Given the description of an element on the screen output the (x, y) to click on. 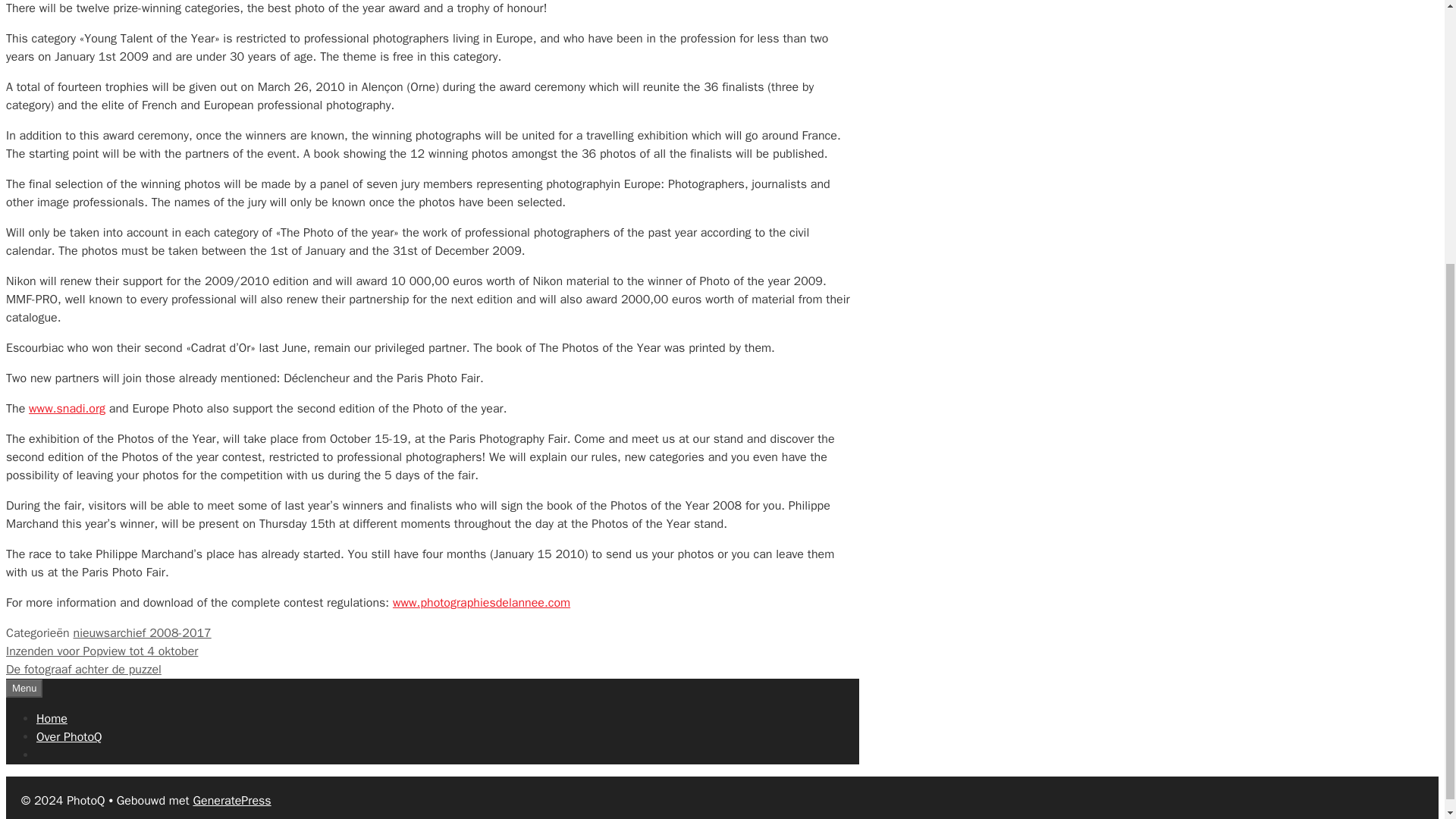
De fotograaf achter de puzzel (83, 669)
Inzenden voor Popview tot 4 oktober (101, 651)
Home (51, 718)
GeneratePress (231, 800)
Over PhotoQ (68, 736)
www.snadi.org (66, 408)
nieuwsarchief 2008-2017 (141, 632)
Menu (23, 688)
www.photographiesdelannee.com (481, 602)
